Given the description of an element on the screen output the (x, y) to click on. 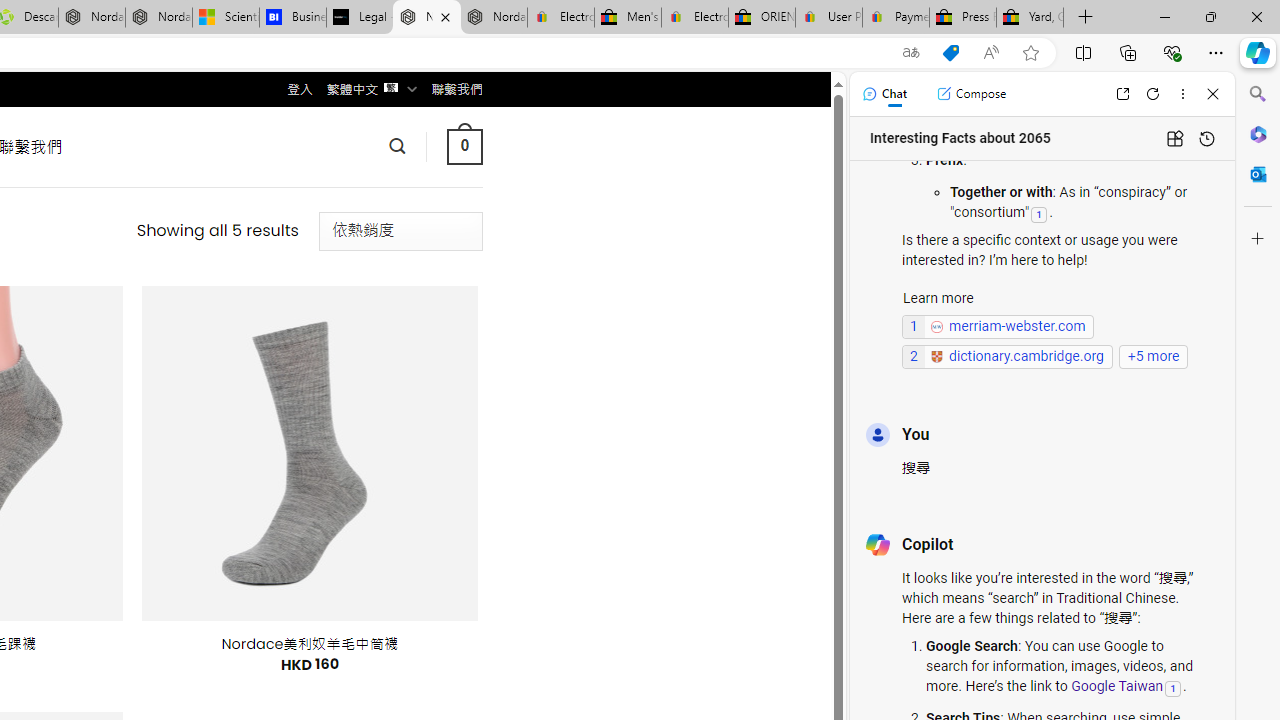
Yard, Garden & Outdoor Living (1030, 17)
User Privacy Notice | eBay (828, 17)
This site has coupons! Shopping in Microsoft Edge (950, 53)
Payments Terms of Use | eBay.com (895, 17)
